Given the description of an element on the screen output the (x, y) to click on. 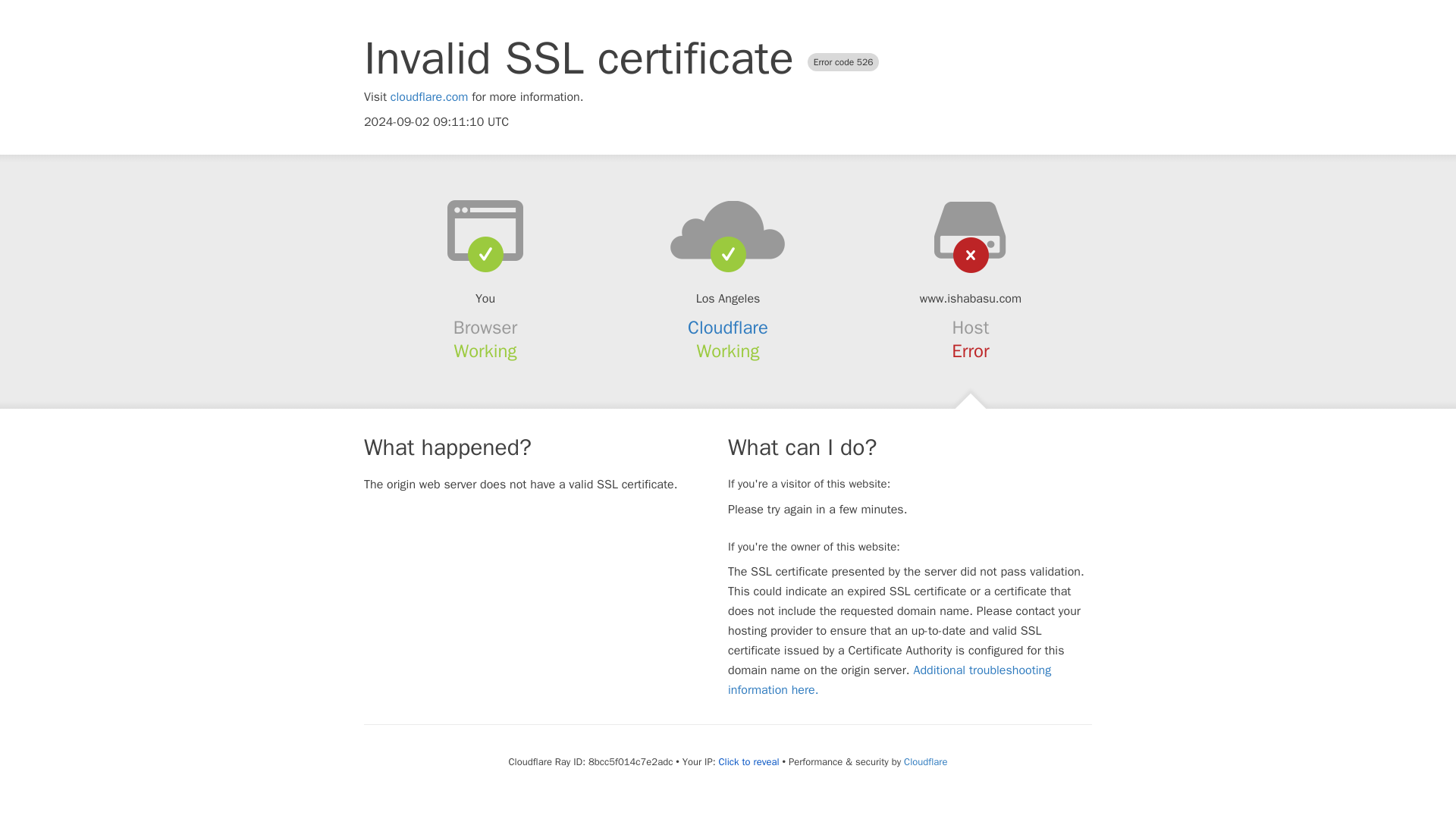
Cloudflare (925, 761)
Additional troubleshooting information here. (889, 679)
Click to reveal (748, 762)
cloudflare.com (429, 96)
Cloudflare (727, 327)
